Given the description of an element on the screen output the (x, y) to click on. 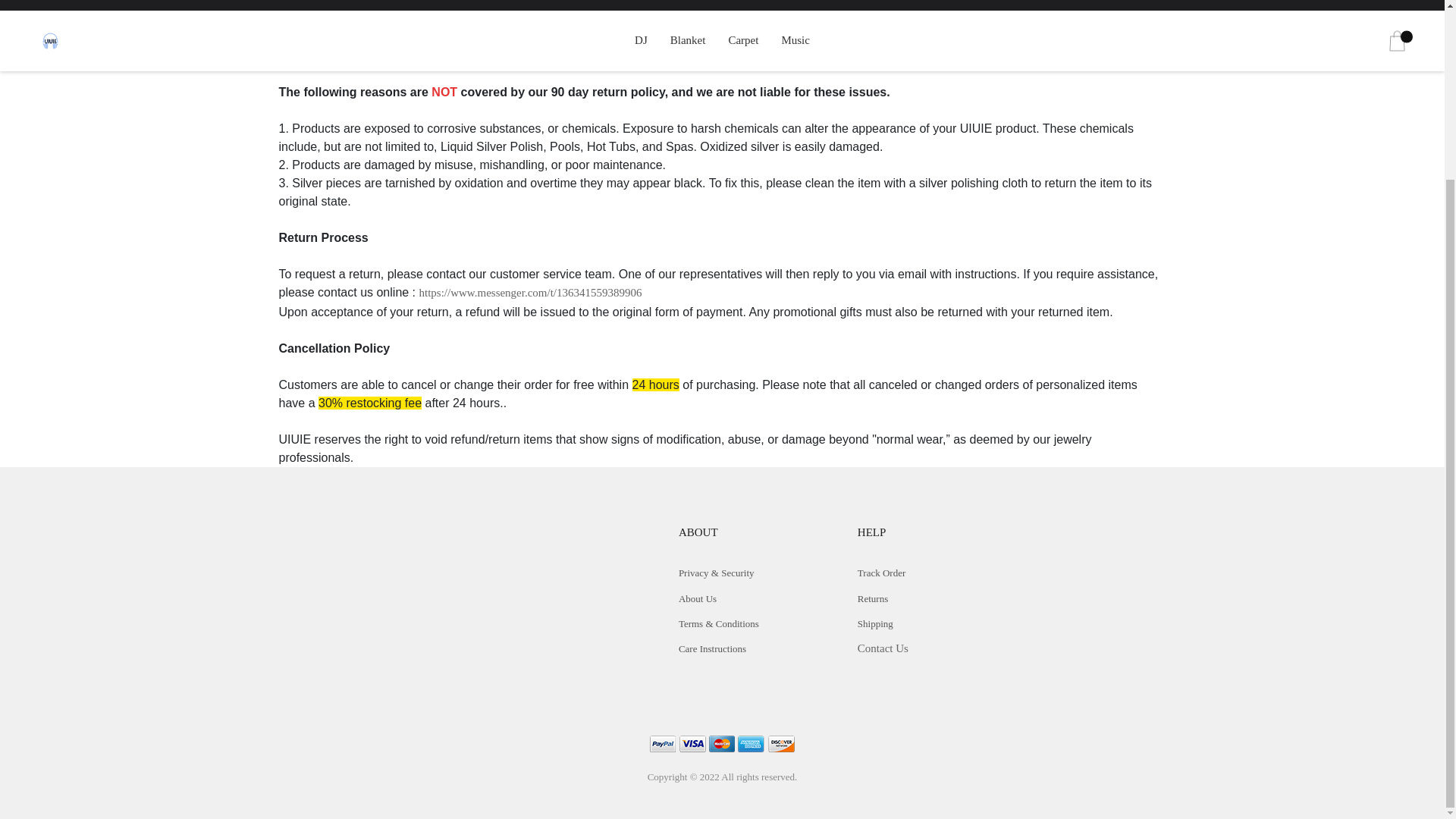
About Us (697, 598)
Care Instructions (711, 648)
Shipping (875, 623)
Track Order (881, 572)
Contact Us (882, 648)
Returns (872, 598)
